Given the description of an element on the screen output the (x, y) to click on. 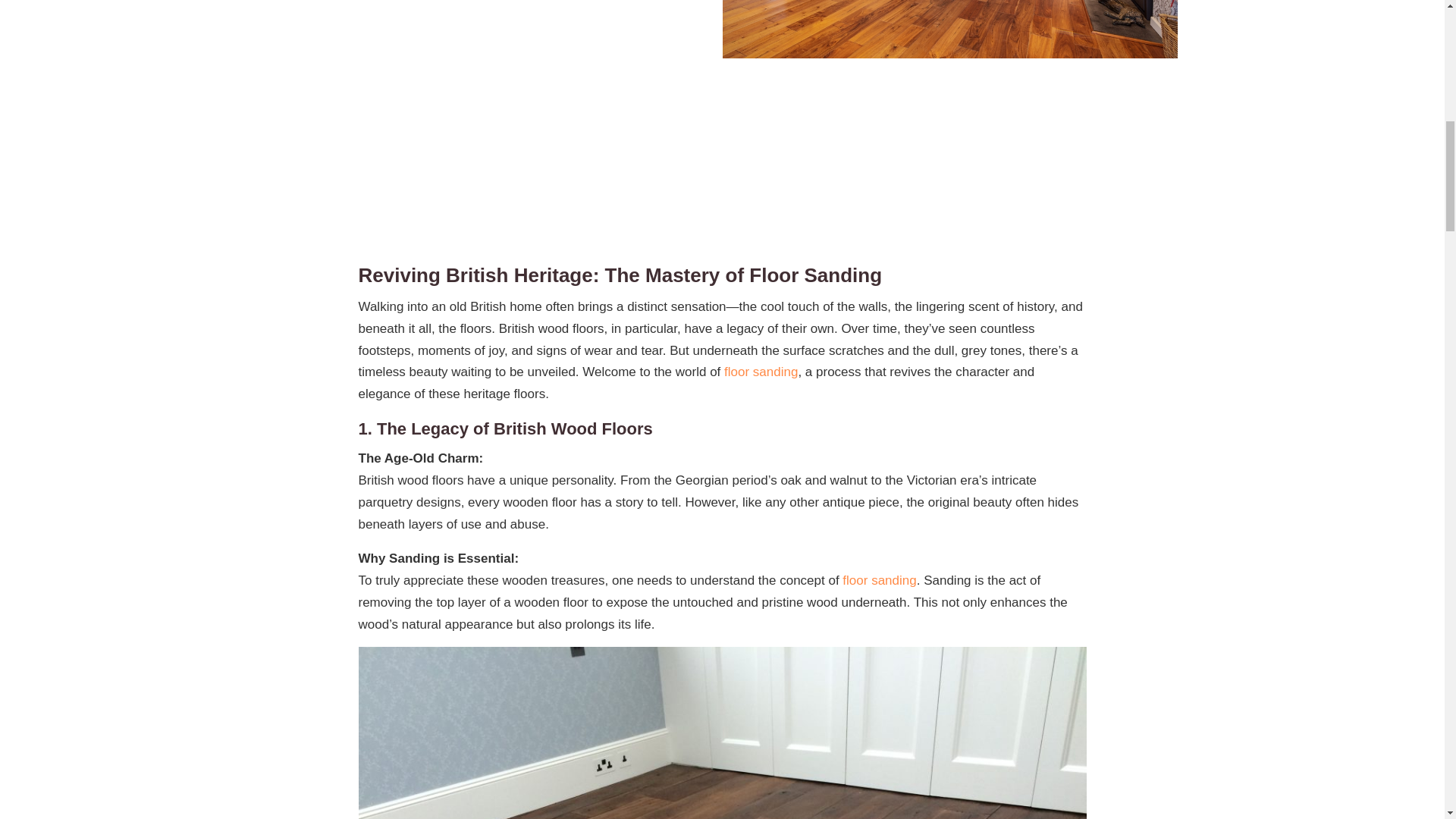
estate-planning-10 (949, 29)
